Given the description of an element on the screen output the (x, y) to click on. 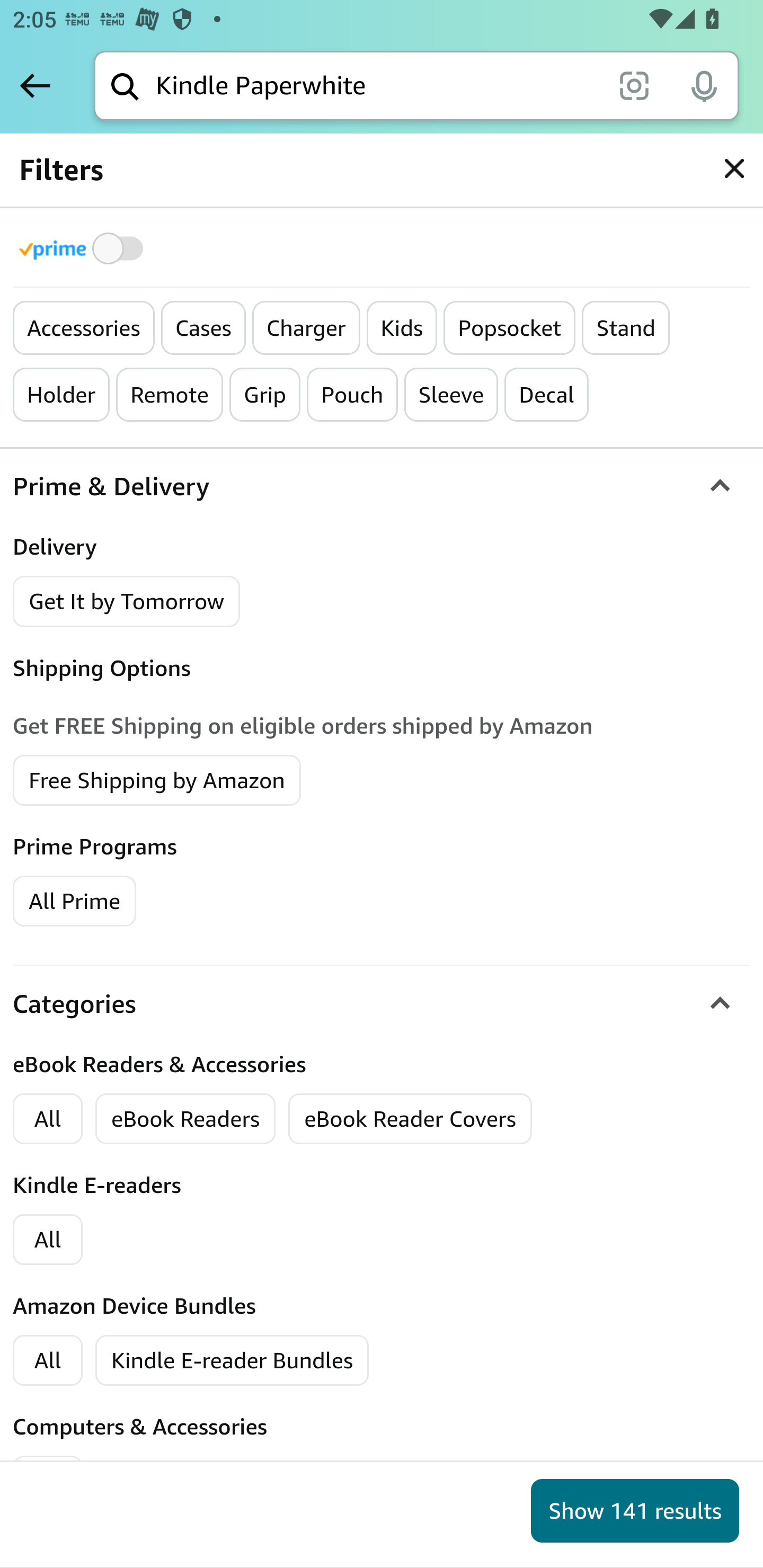
Back (35, 85)
scan it (633, 85)
Toggle to filter by Prime products Prime Eligible (83, 247)
Accessories (83, 328)
Cases (203, 328)
Charger (305, 328)
Kids (401, 328)
Popsocket (509, 328)
Stand (625, 328)
Holder (61, 394)
Remote (169, 394)
Grip (265, 394)
Pouch (352, 394)
Sleeve (451, 394)
Decal (546, 394)
Prime & Delivery (381, 486)
Get It by Tomorrow (126, 601)
Free Shipping by Amazon (157, 778)
All Prime (74, 899)
Categories (381, 1003)
All (47, 1118)
eBook Readers (185, 1118)
eBook Reader Covers (409, 1118)
All (47, 1239)
All (47, 1360)
Kindle E-reader Bundles (232, 1360)
Show 141 results (635, 1510)
